Given the description of an element on the screen output the (x, y) to click on. 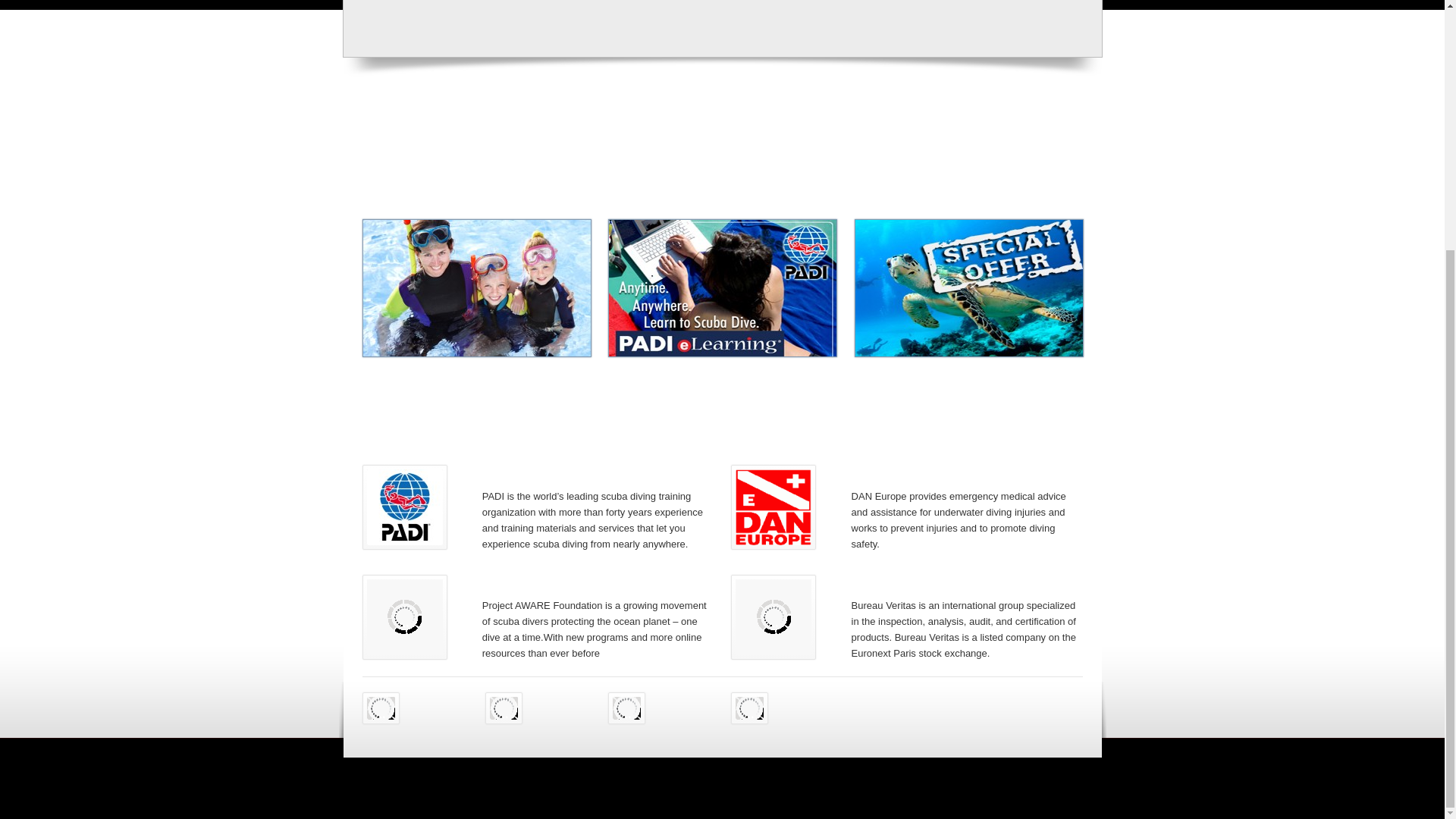
Top (1096, 799)
 Read more (697, 298)
Whatch A Center Alignment Page (521, 315)
twitter (503, 707)
Read more (697, 298)
Facebook (380, 707)
Read More... (521, 315)
